Given the description of an element on the screen output the (x, y) to click on. 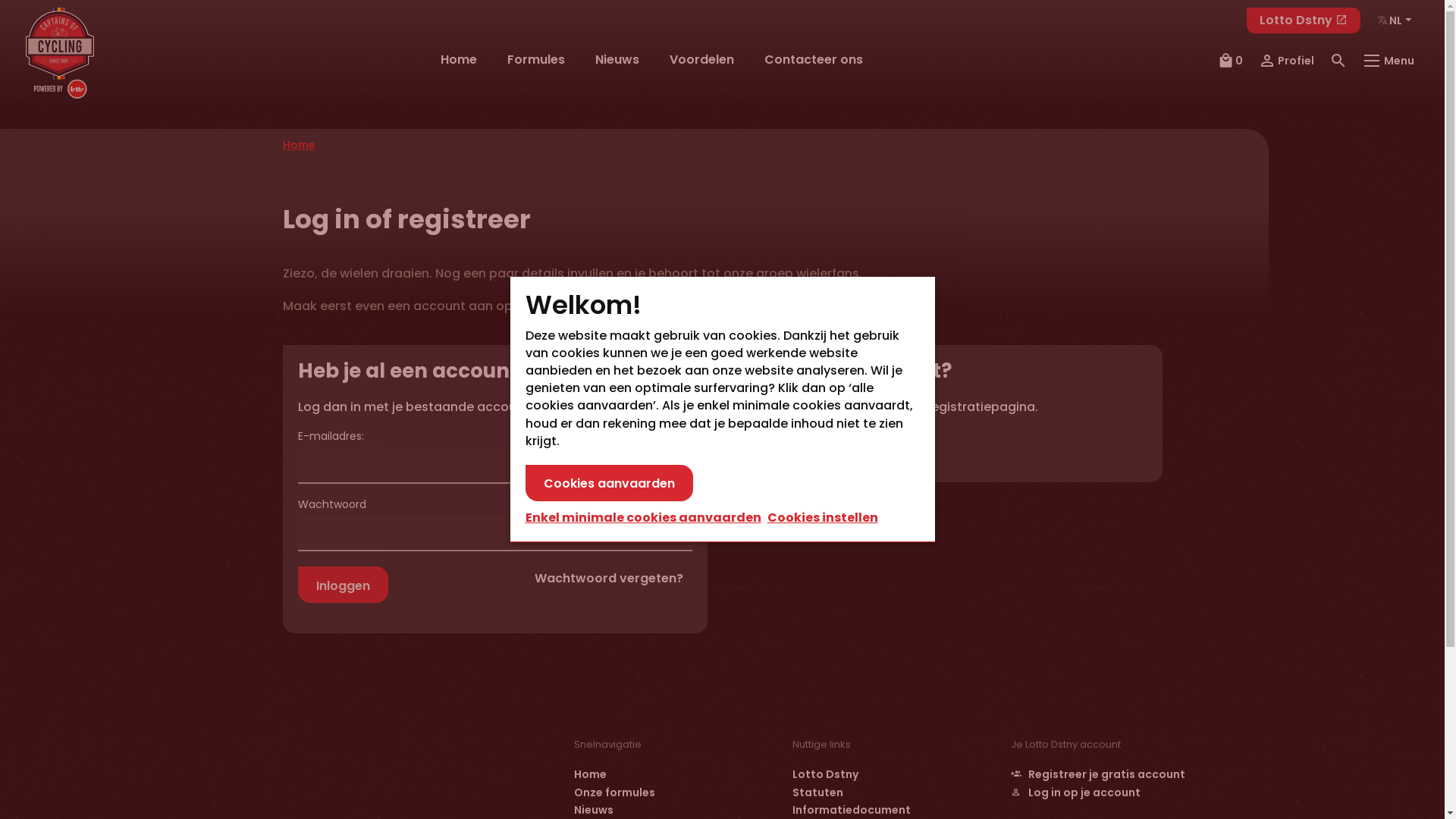
Statuten Element type: text (816, 792)
Registreer je gratis account Element type: text (1097, 773)
Voordelen Element type: text (701, 59)
Cookies instellen Element type: text (822, 517)
Taal:
NL Element type: text (1394, 20)
Menu Element type: text (1389, 60)
Log in op je account Element type: text (1075, 792)
Lotto Dstny Element type: text (824, 773)
Contacteer ons Element type: text (813, 59)
Nieuws Element type: text (617, 59)
Nieuws Element type: text (592, 809)
0 Element type: text (1229, 61)
Wachtwoord vergeten? Element type: text (607, 579)
Lotto Dstny Element type: text (1303, 20)
Profiel Element type: text (1286, 60)
Registreren Element type: text (806, 448)
Formules Element type: text (535, 59)
Cookies aanvaarden Element type: text (608, 482)
Enkel minimale cookies aanvaarden Element type: text (642, 517)
Zoeken Element type: text (1339, 60)
Informatiedocument Element type: text (850, 809)
Onze formules Element type: text (613, 792)
Inloggen Element type: text (342, 584)
Home Element type: text (298, 144)
Home Element type: text (589, 773)
Home Element type: text (458, 59)
